Given the description of an element on the screen output the (x, y) to click on. 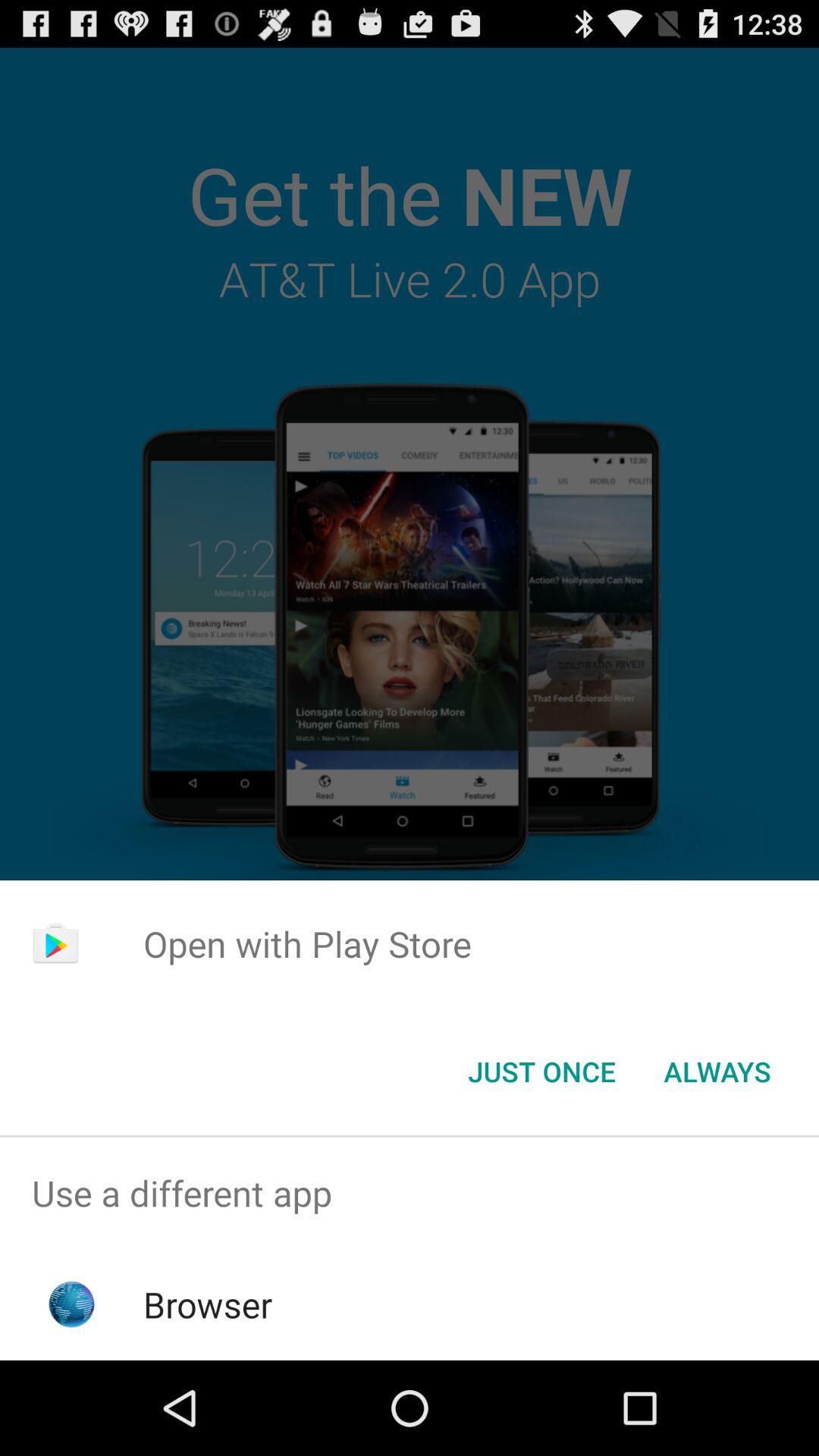
swipe to the always (717, 1071)
